Given the description of an element on the screen output the (x, y) to click on. 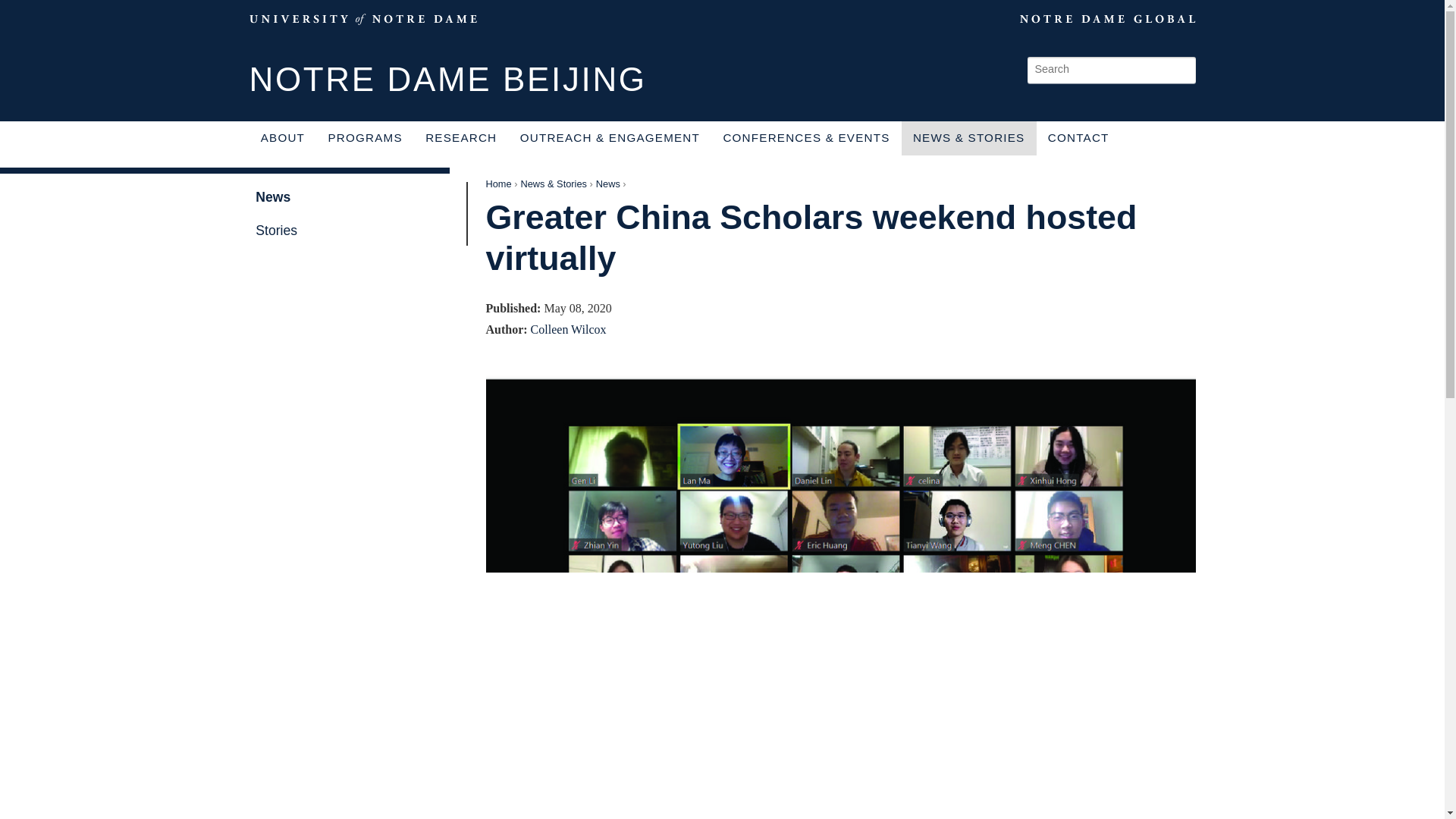
PROGRAMS (364, 138)
News (350, 196)
News (607, 183)
NOTRE DAME BEIJING (447, 80)
Home (497, 183)
Colleen Wilcox (569, 328)
University Notre Dame (362, 18)
CONTACT (1078, 138)
ABOUT (281, 138)
RESEARCH (460, 138)
Notre Dame Global (1072, 18)
Stories (350, 230)
